Given the description of an element on the screen output the (x, y) to click on. 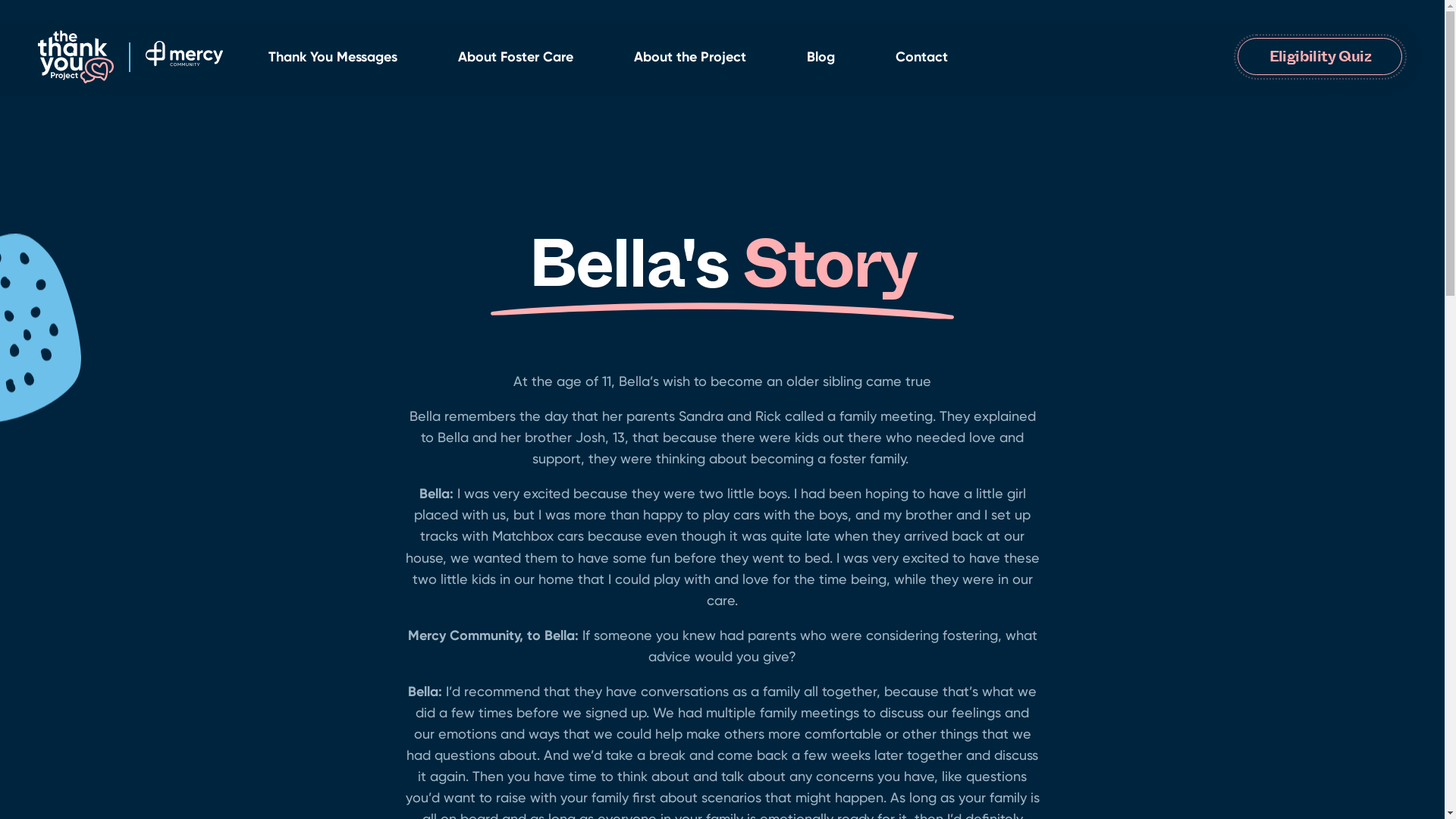
Thank You Messages Element type: text (332, 56)
About Foster Care Element type: text (515, 56)
Contact Element type: text (921, 56)
The Thank You Project Element type: hover (183, 56)
Blog Element type: text (820, 56)
About the Project Element type: text (689, 56)
The Thank You Project Element type: hover (91, 56)
Eligibility Quiz Element type: text (1319, 56)
